Given the description of an element on the screen output the (x, y) to click on. 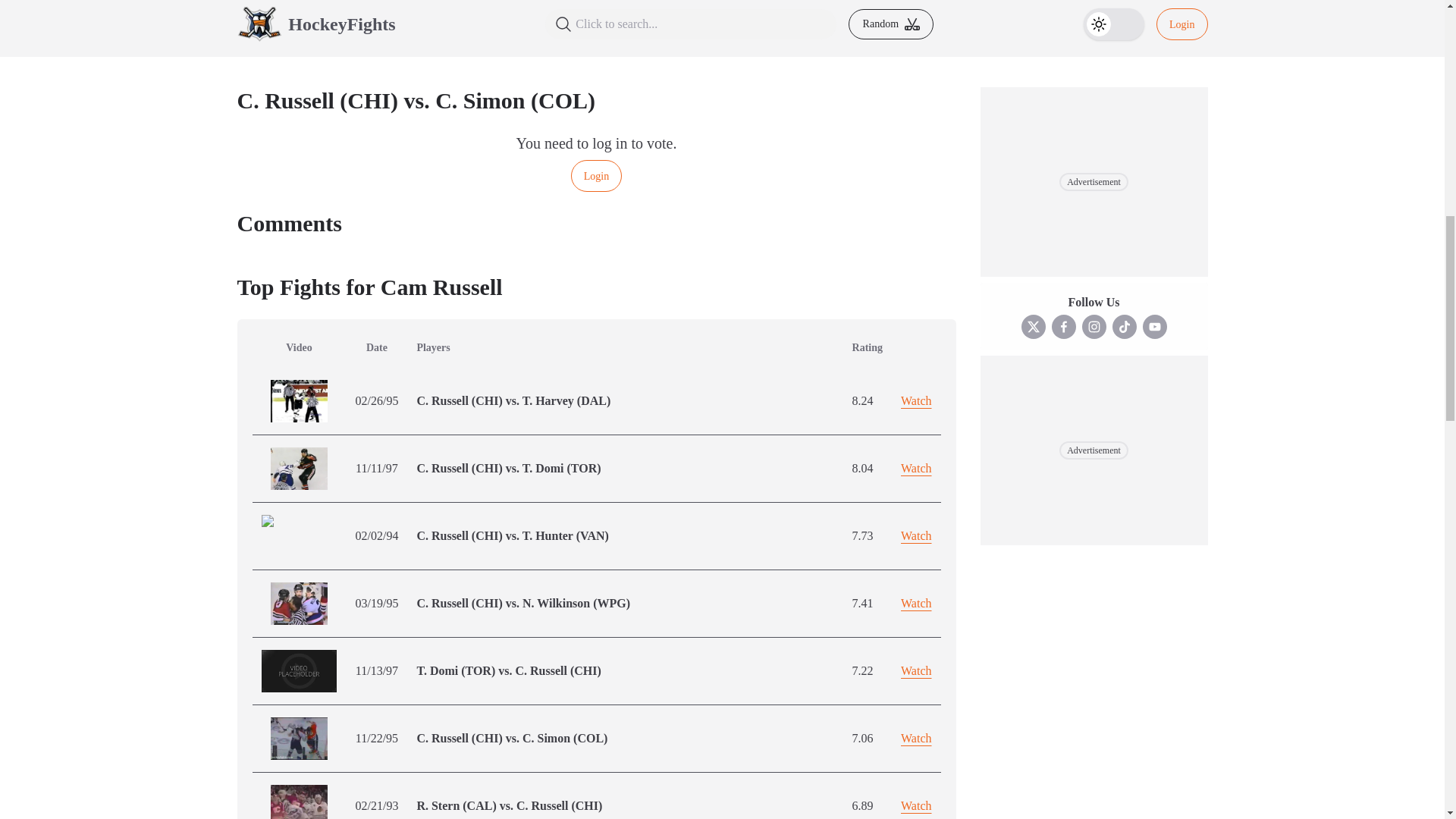
Watch (916, 400)
